Given the description of an element on the screen output the (x, y) to click on. 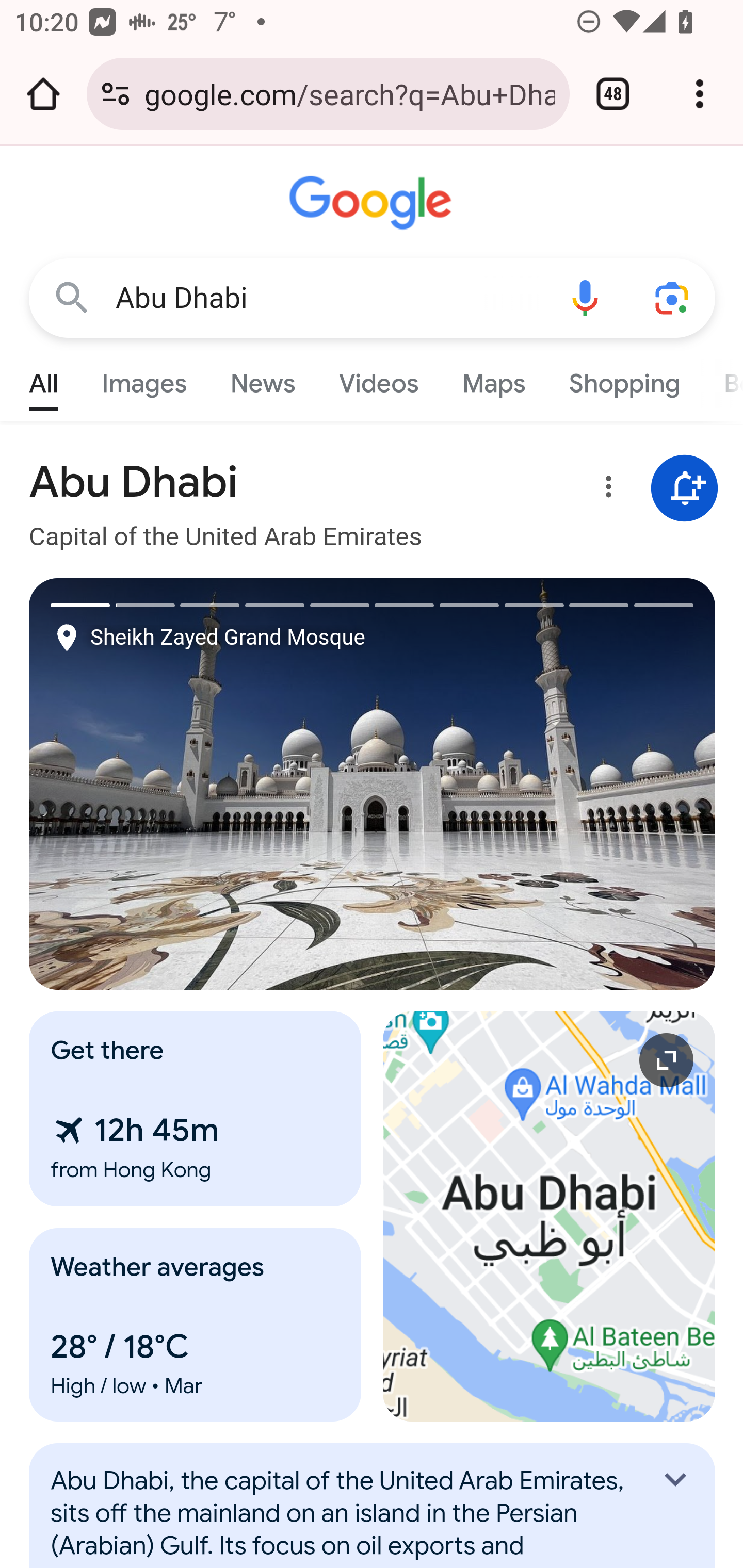
Open the home page (43, 93)
Connection is secure (115, 93)
Switch or close tabs (612, 93)
Customize and control Google Chrome (699, 93)
Google (372, 203)
Google Search (71, 296)
Search using your camera or photos (672, 296)
Abu Dhabi (328, 297)
Images (144, 378)
News (262, 378)
Videos (378, 378)
Maps (493, 378)
Shopping (623, 378)
Get notifications about Abu Dhabi (684, 489)
More options (605, 489)
Previous image (200, 783)
Next image (544, 783)
Expand map (549, 1216)
Weather averages 28° / 18°C High / low • Mar (195, 1324)
